Given the description of an element on the screen output the (x, y) to click on. 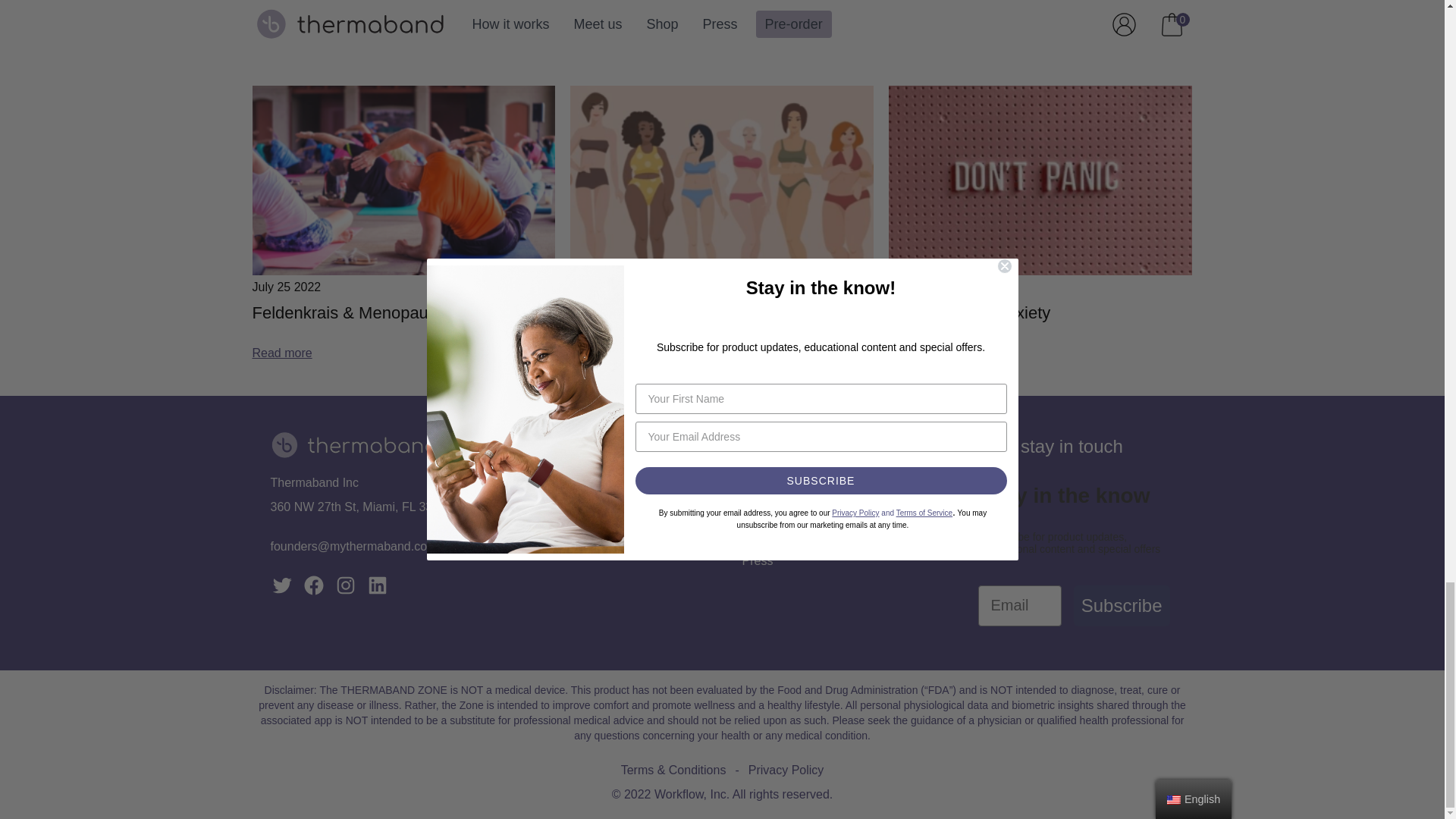
How it works (540, 487)
Read more (918, 16)
Read more (281, 353)
Read more (918, 353)
App (516, 535)
Menopause-Related Weight Gain (693, 312)
Read more (281, 16)
Read more (600, 43)
Read more (600, 353)
Shop (520, 512)
Disrupting the Menopausal Space with Femtech (721, 7)
